Given the description of an element on the screen output the (x, y) to click on. 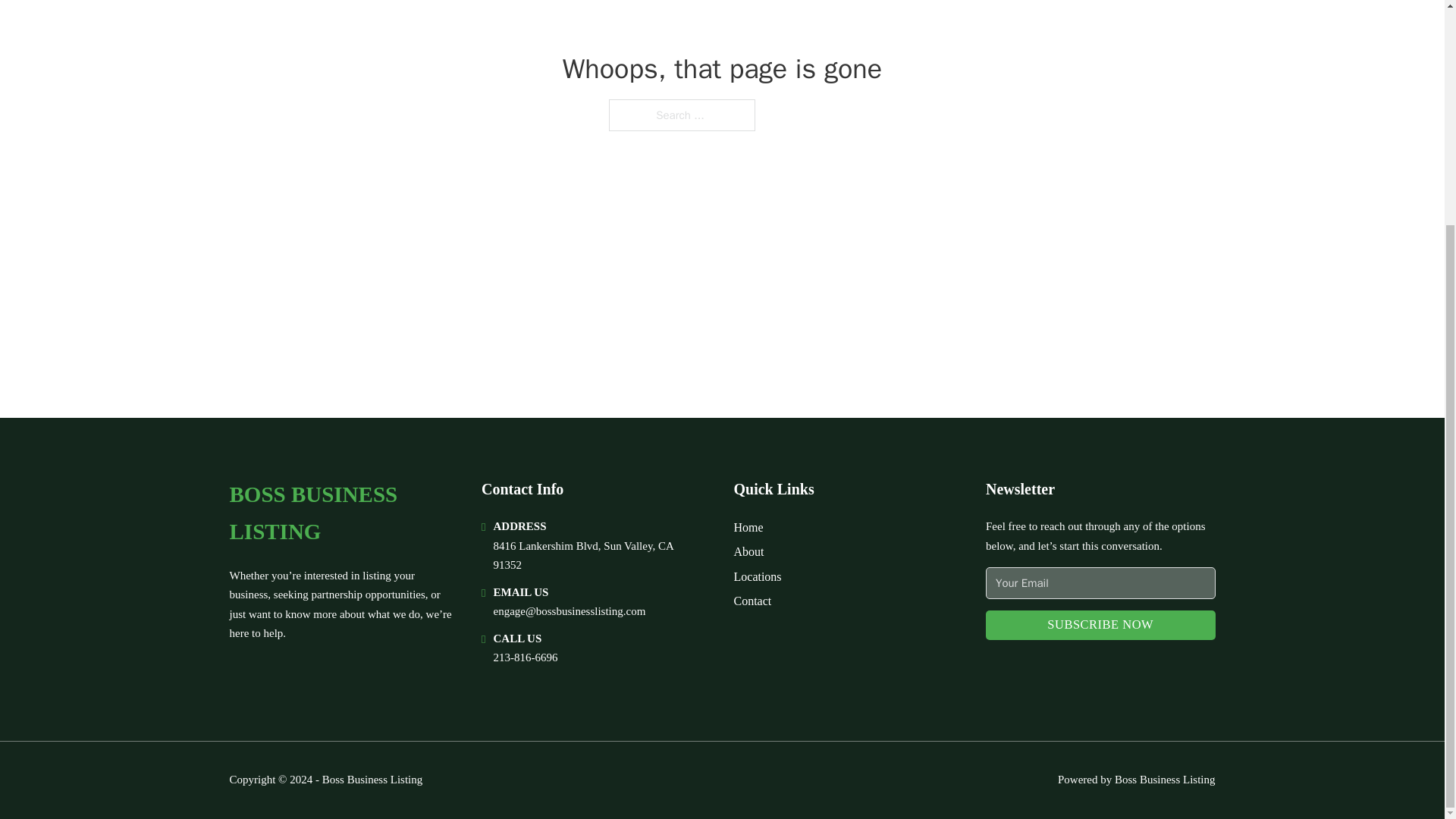
Home (747, 526)
SUBSCRIBE NOW (1100, 624)
213-816-6696 (525, 657)
About (748, 551)
Contact (752, 600)
BOSS BUSINESS LISTING (343, 513)
Locations (757, 576)
